Given the description of an element on the screen output the (x, y) to click on. 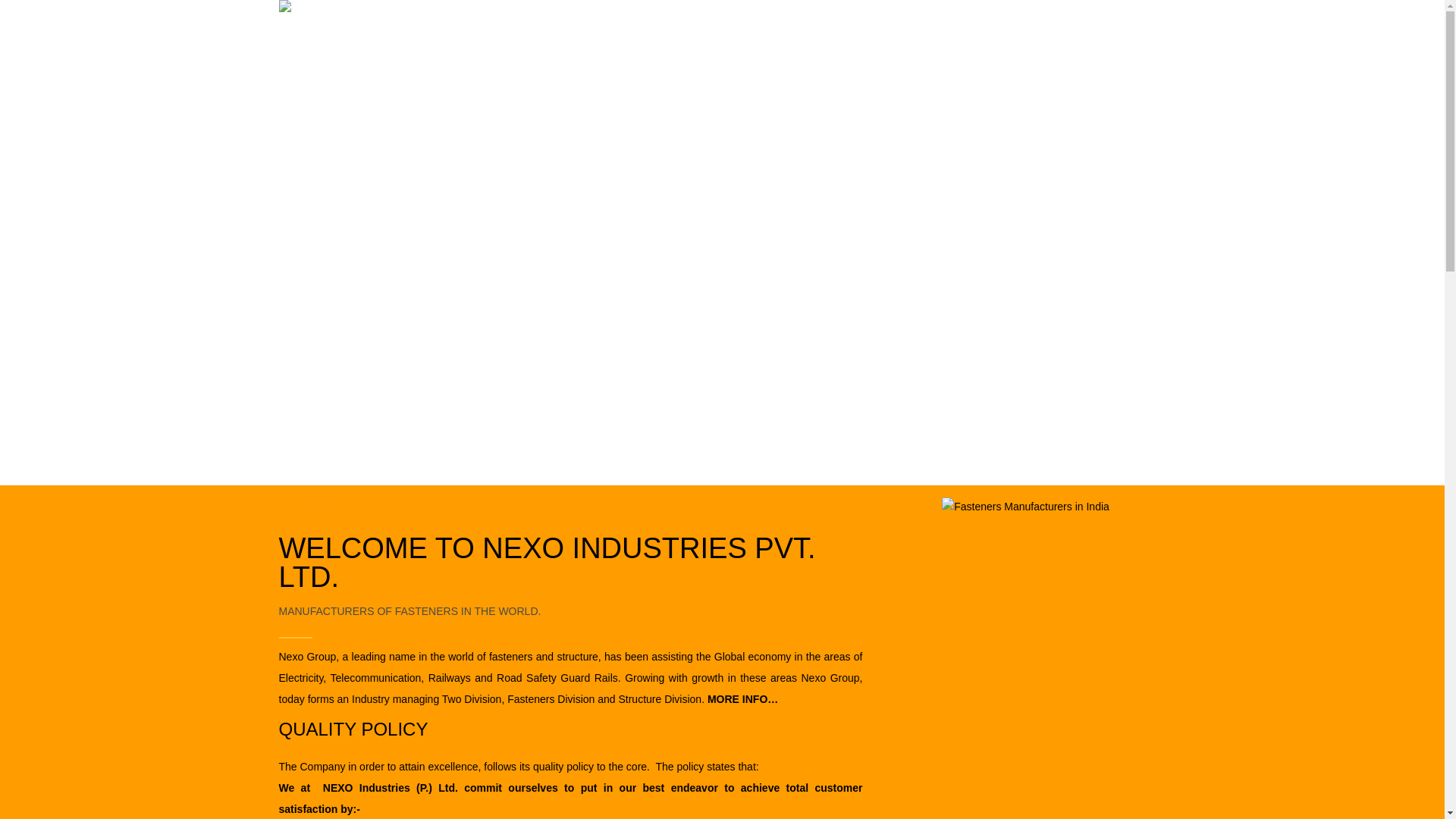
CONTACT US (1132, 57)
FABRICATION DIVISION (933, 57)
ABOUT NEXO (581, 57)
PRODUCT RANGE (679, 57)
WAREHOUSE (1046, 57)
FASTENERS DIVISION (800, 57)
